Given the description of an element on the screen output the (x, y) to click on. 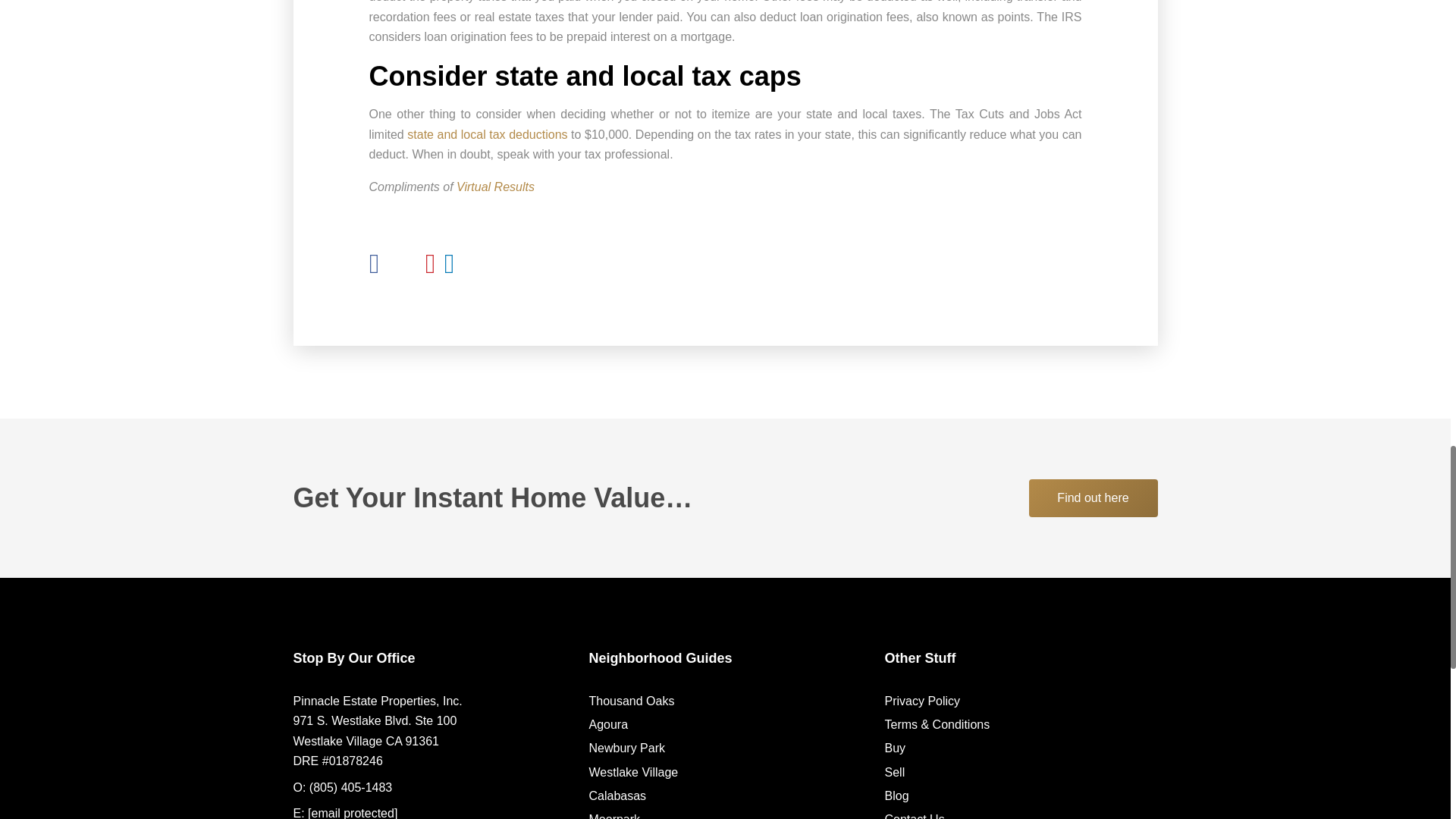
Virtual Results (495, 186)
Agoura (607, 724)
Thousand Oaks (631, 700)
state and local tax deductions (487, 133)
Newbury Park (625, 748)
Westlake Village (633, 771)
Find out here (1092, 498)
